Given the description of an element on the screen output the (x, y) to click on. 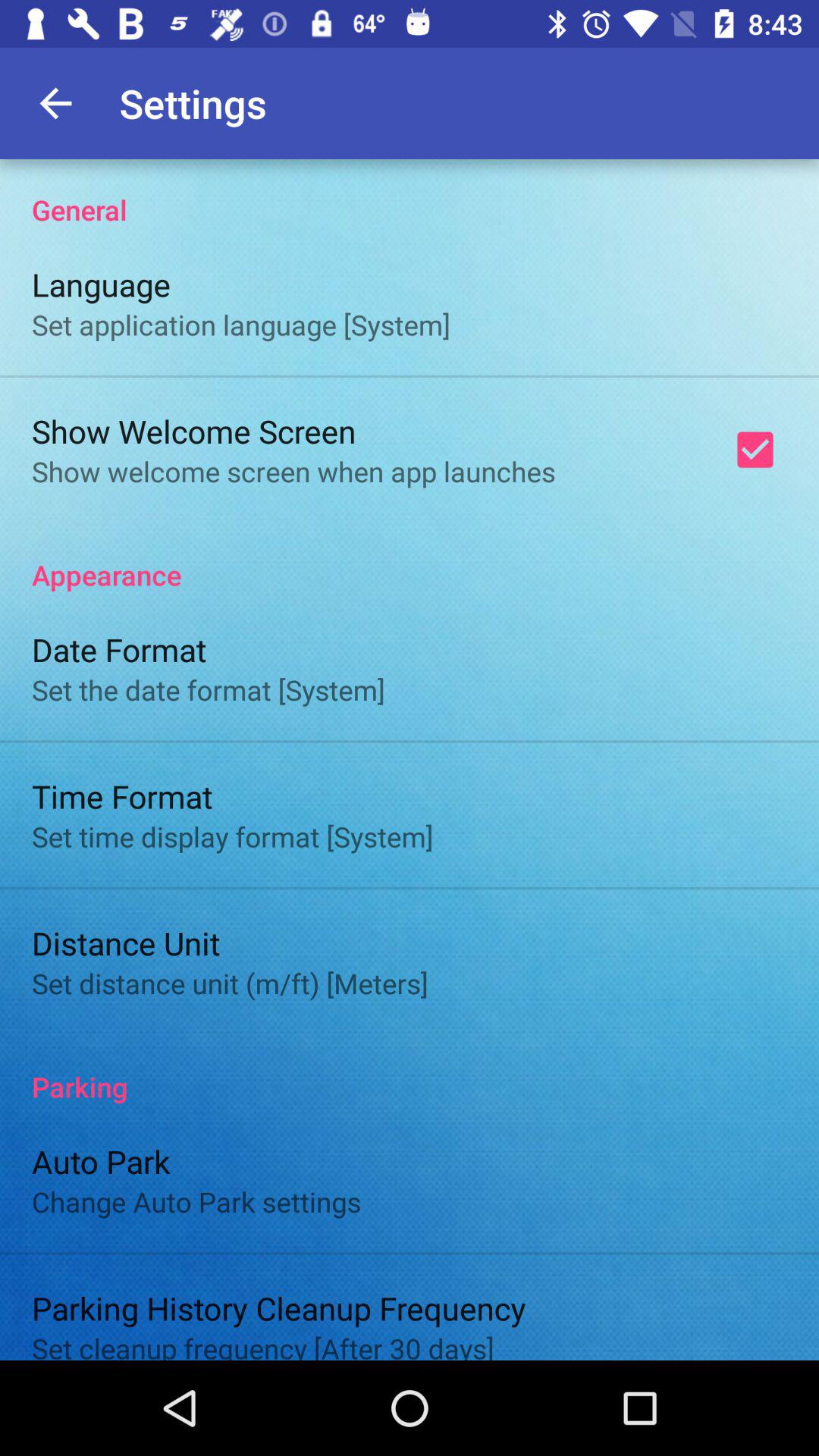
launch set application language (240, 324)
